Given the description of an element on the screen output the (x, y) to click on. 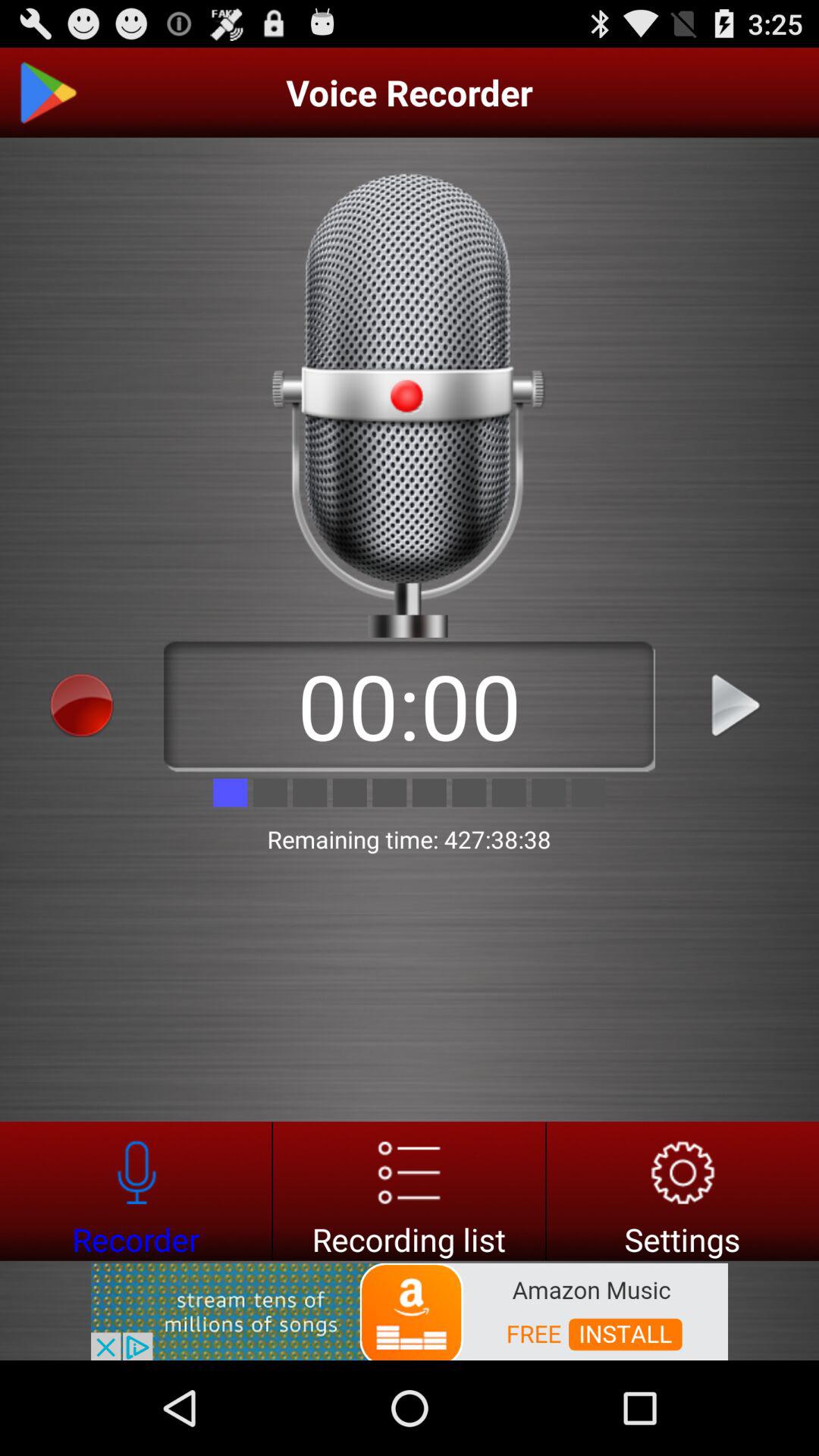
microphone recorder (135, 1190)
